Given the description of an element on the screen output the (x, y) to click on. 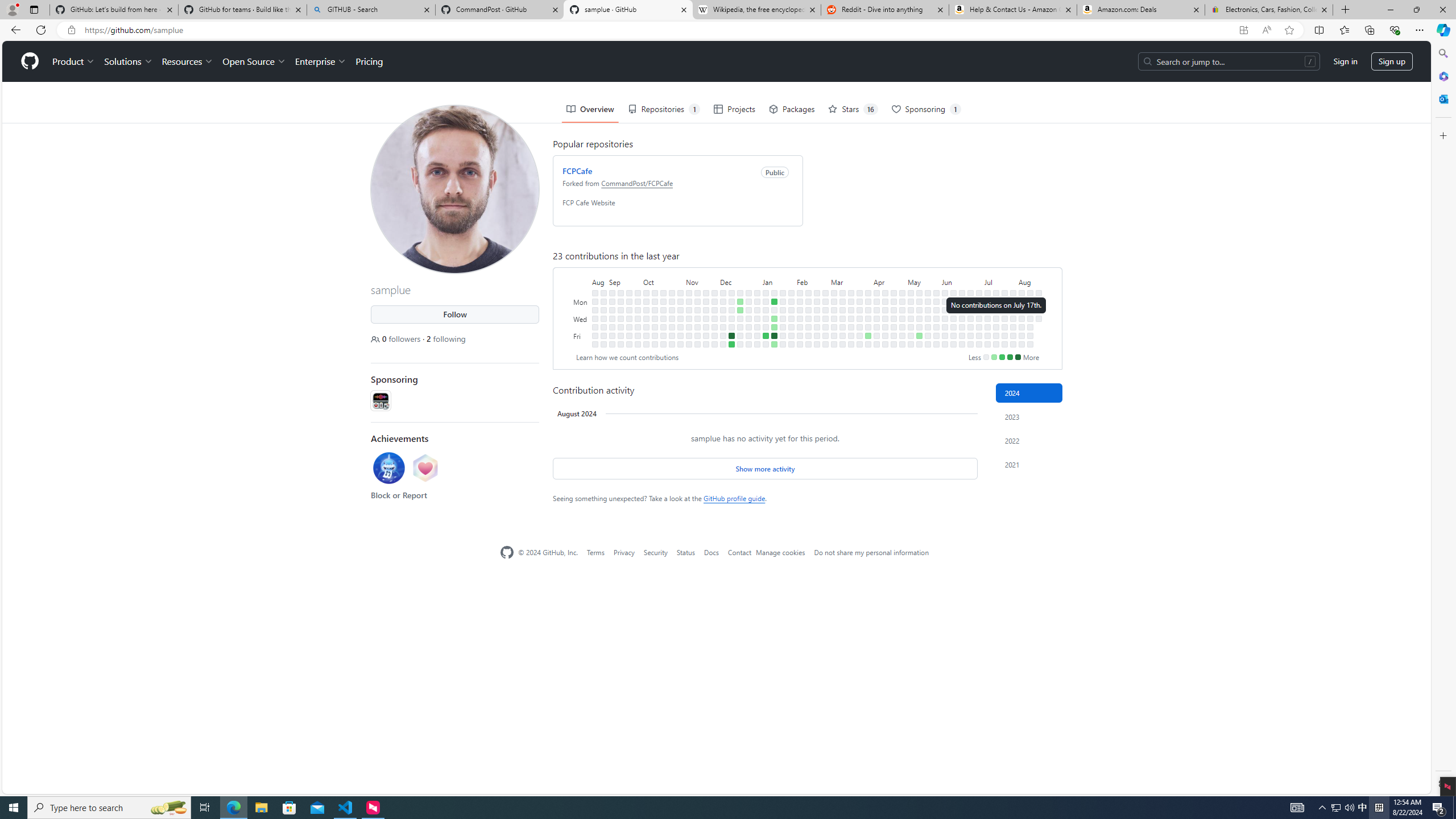
No contributions on August 2nd. (1013, 335)
Show more activity (764, 468)
Side bar (1443, 418)
1 contribution on December 19th. (740, 309)
No contributions on November 15th. (697, 318)
No contributions on January 14th. (774, 292)
No contributions on July 15th. (995, 301)
No contributions on November 21st. (706, 309)
No contributions on June 6th. (944, 326)
December (740, 280)
No contributions on May 14th. (919, 309)
No contributions on July 9th. (987, 309)
Open Source (254, 60)
No contributions on August 14th. (1029, 318)
No contributions on December 22nd. (740, 335)
